Given the description of an element on the screen output the (x, y) to click on. 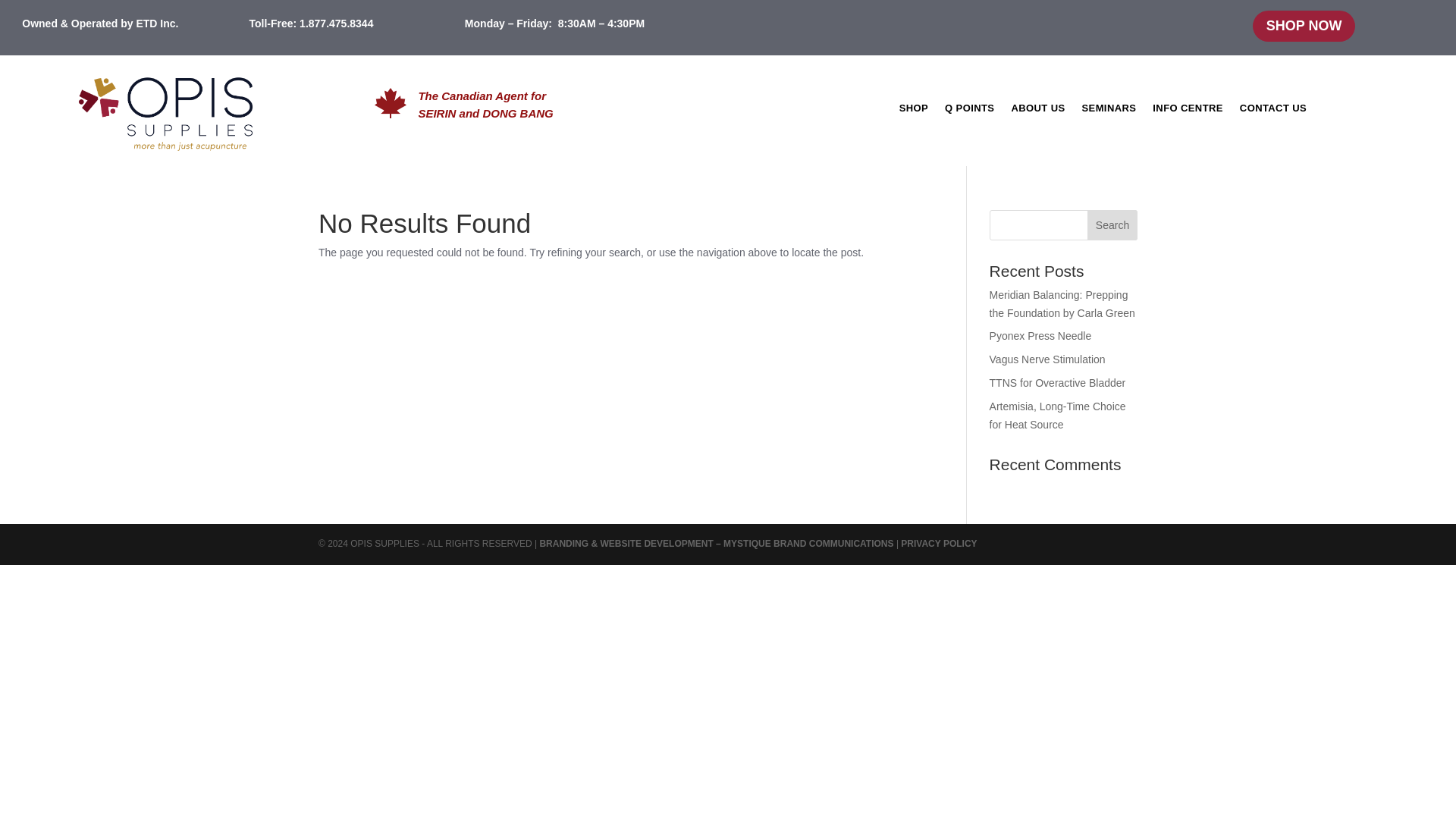
INFO CENTRE (1188, 111)
Artemisia, Long-Time Choice for Heat Source (1057, 415)
Q POINTS (969, 111)
Search (1112, 224)
Search (1112, 224)
Meridian Balancing: Prepping the Foundation by Carla Green (1062, 304)
Vagus Nerve Stimulation (1047, 358)
PRIVACY POLICY (937, 543)
214759-Opis supplies logo-alternate tagline (172, 117)
Pyonex Press Needle (1041, 336)
CONTACT US (1273, 111)
TTNS for Overactive Bladder (1057, 382)
SHOP (913, 111)
SHOP NOW (1303, 25)
ABOUT US (1037, 111)
